Given the description of an element on the screen output the (x, y) to click on. 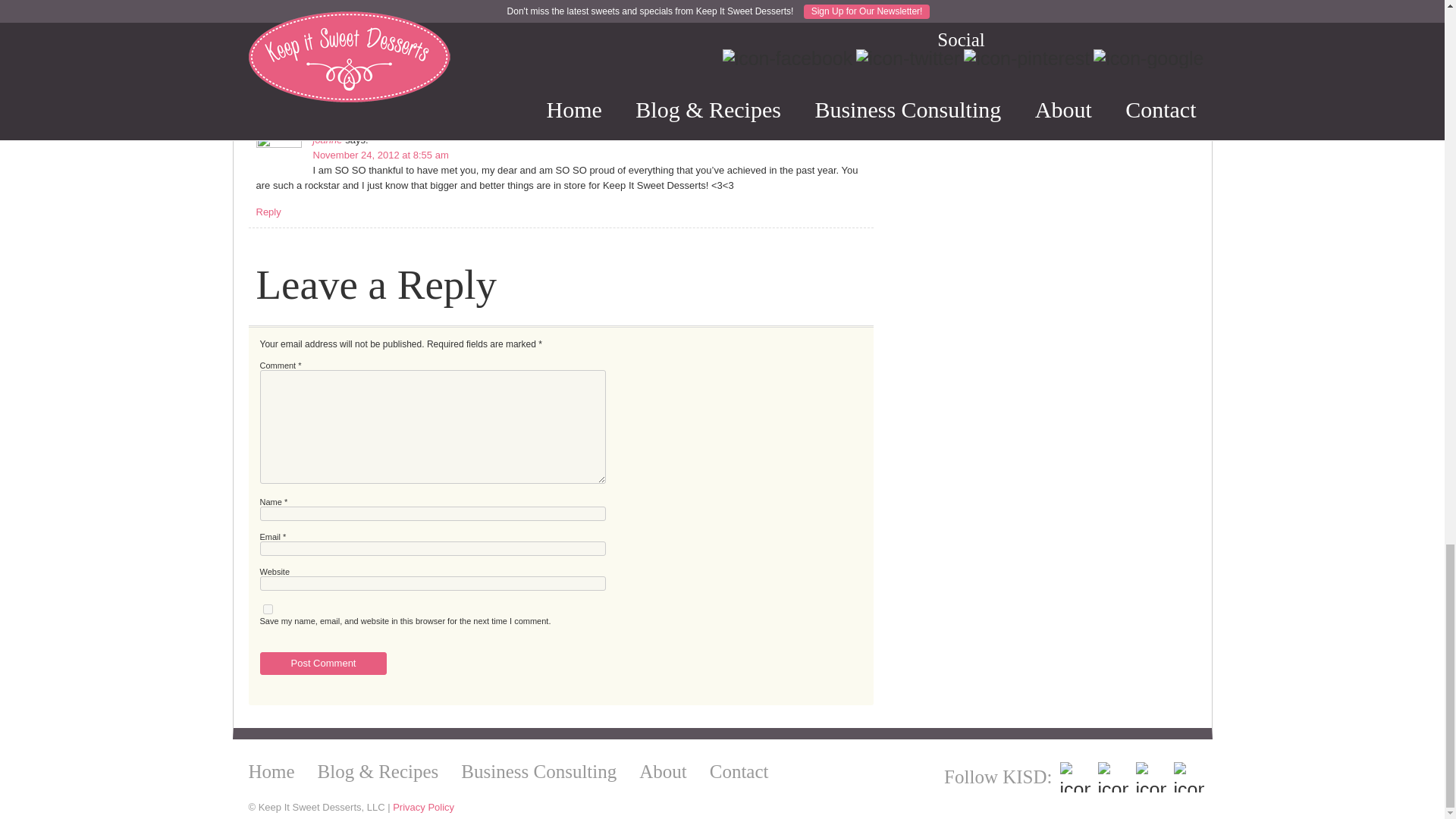
Reply (268, 20)
Post Comment (323, 662)
yes (267, 609)
November 22, 2012 at 11:32 am (382, 66)
Kathryn (329, 51)
